Given the description of an element on the screen output the (x, y) to click on. 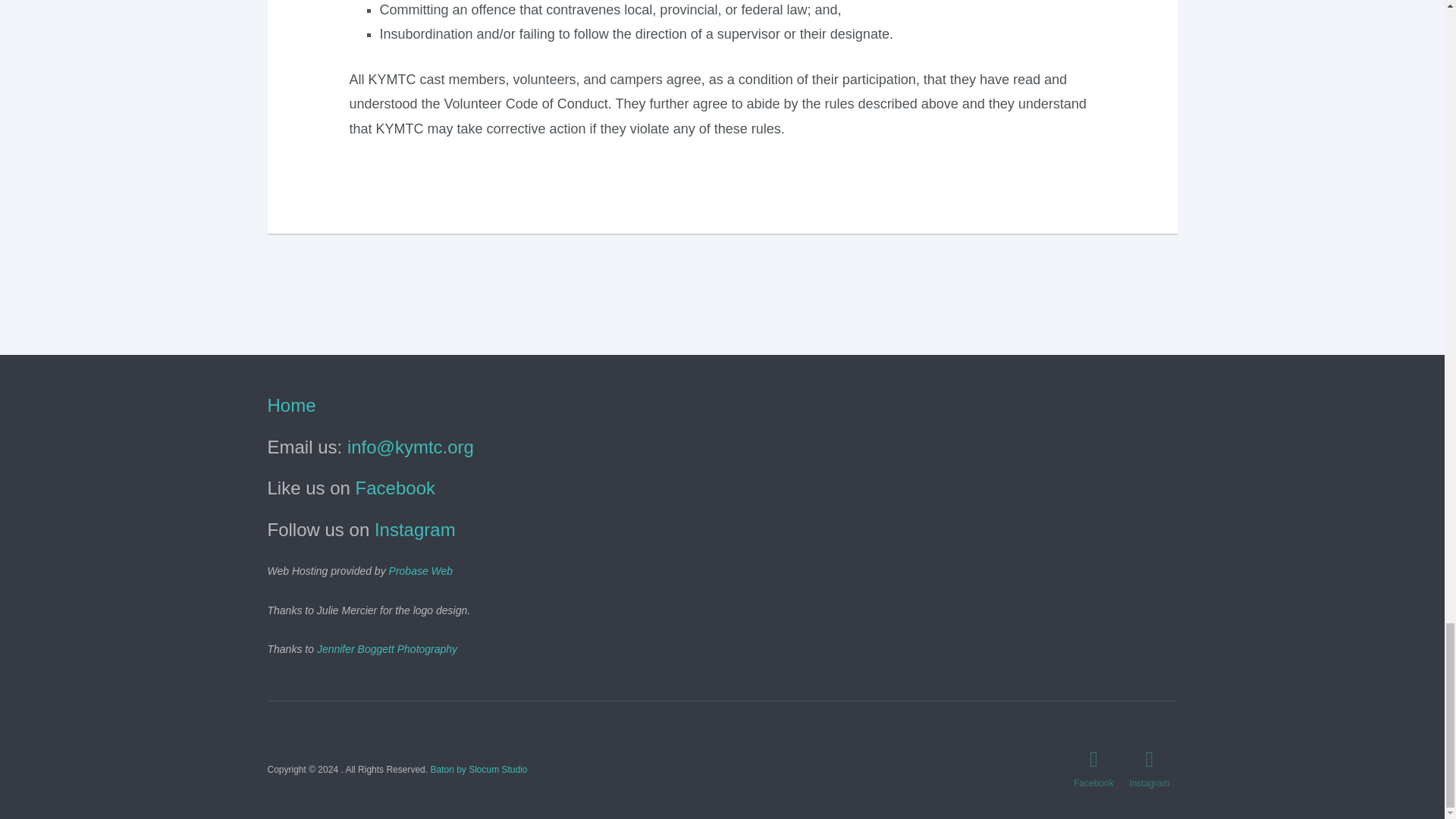
Home (290, 404)
Instagram (414, 529)
Facebook (395, 487)
